Given the description of an element on the screen output the (x, y) to click on. 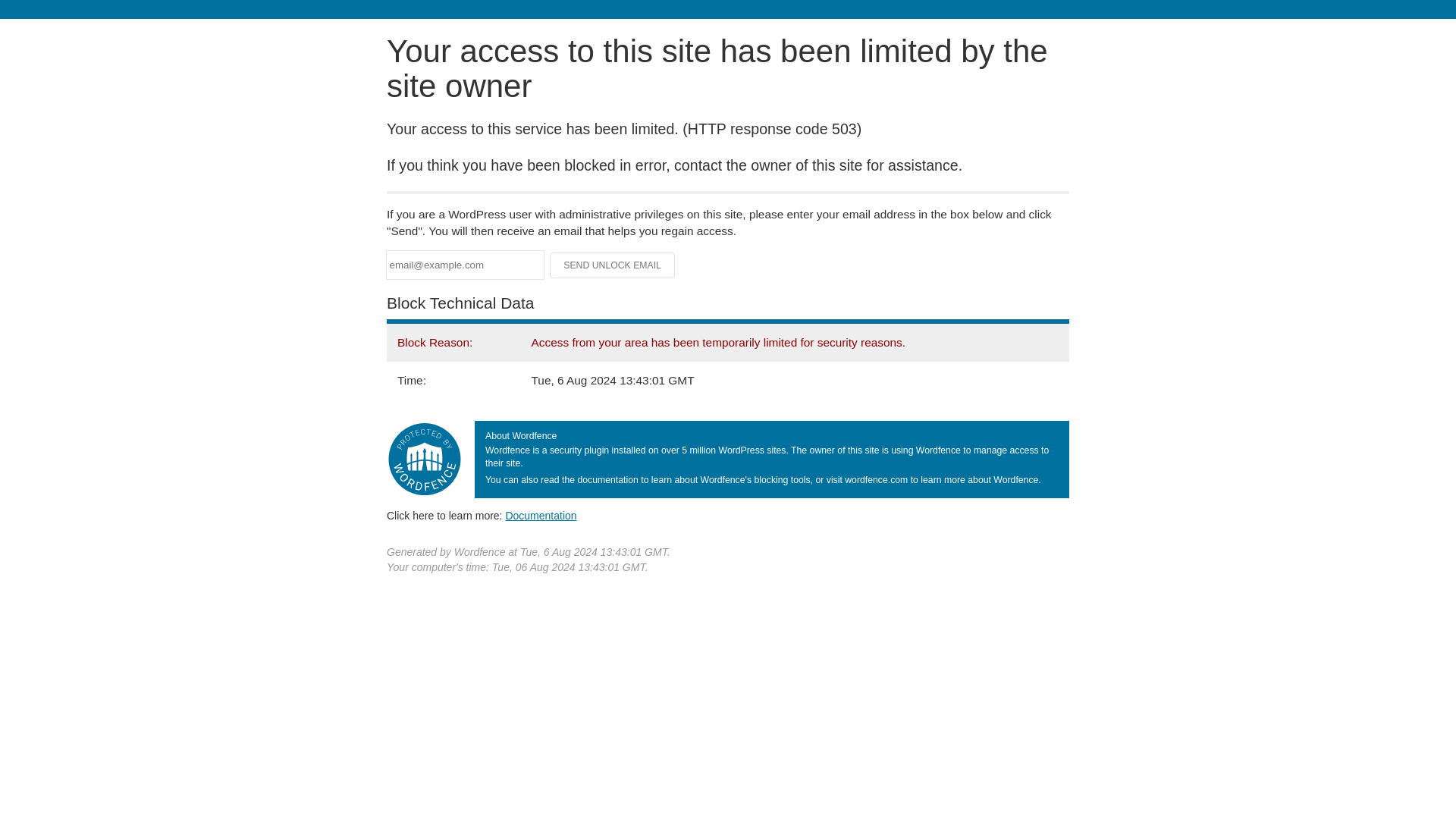
Send Unlock Email (612, 265)
Send Unlock Email (612, 265)
Documentation (540, 515)
